Given the description of an element on the screen output the (x, y) to click on. 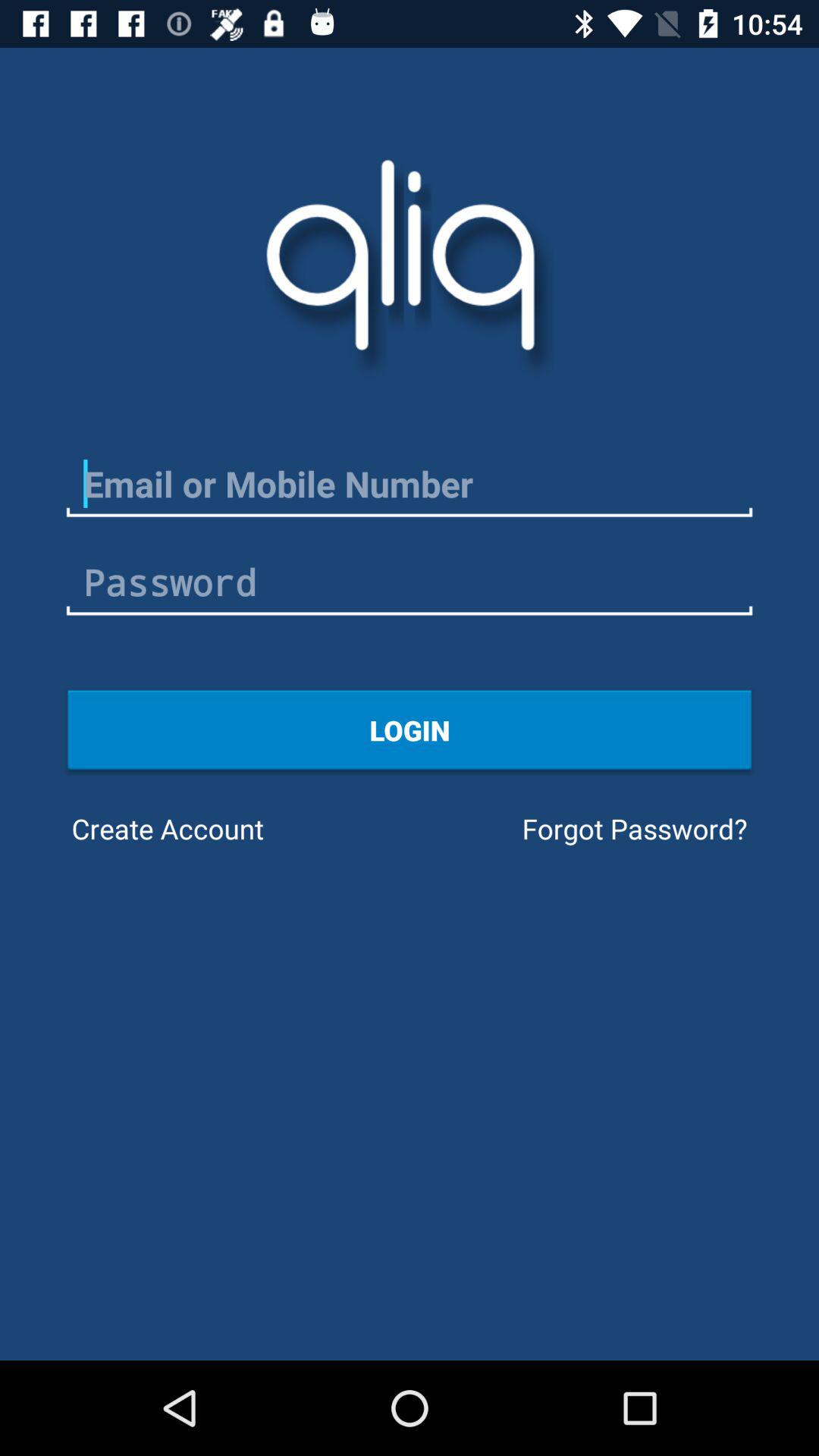
enter mobile number or email (409, 484)
